Given the description of an element on the screen output the (x, y) to click on. 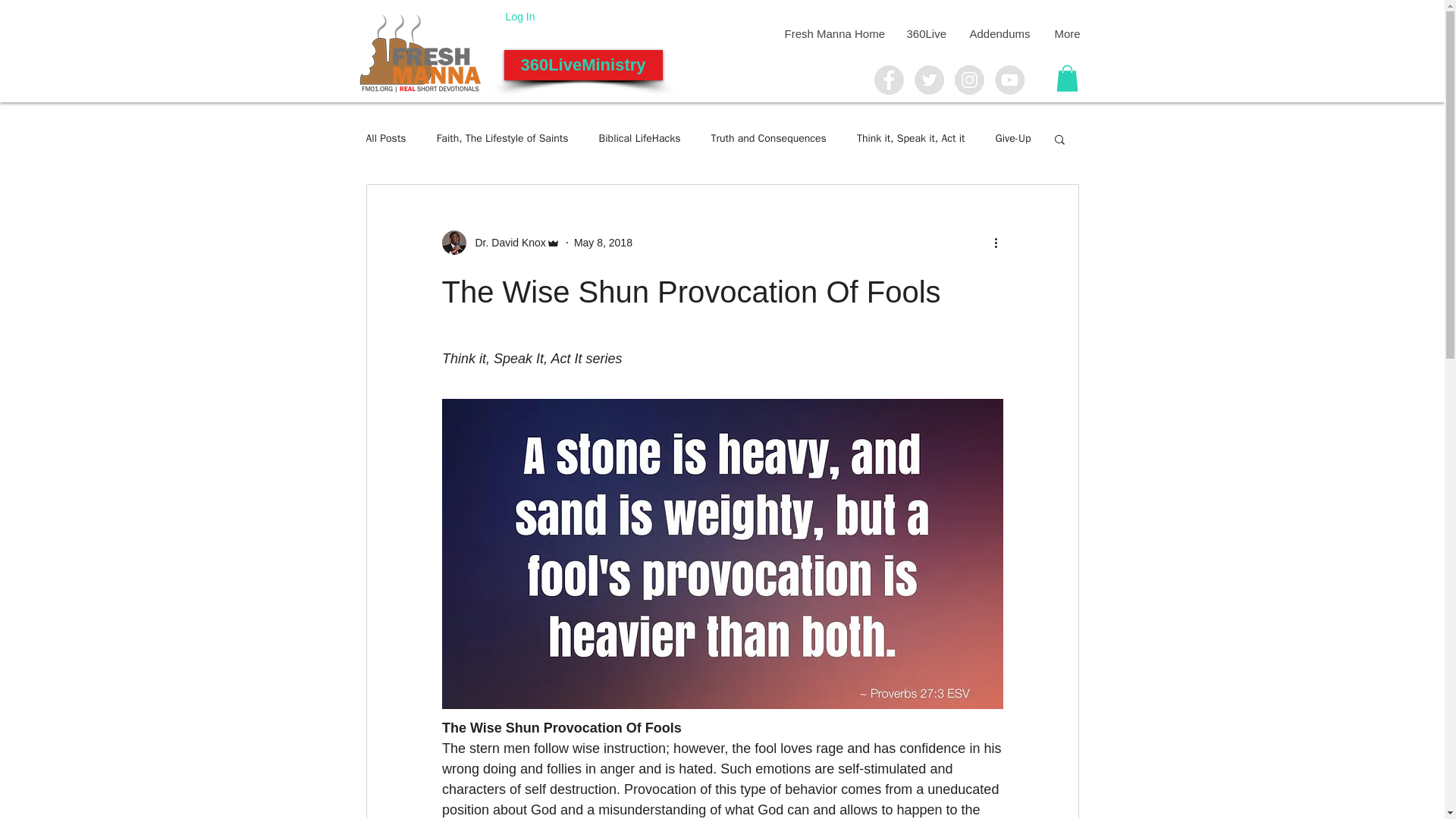
360LiveMinistry (582, 64)
Give-Up (1012, 138)
Faith, The Lifestyle of Saints (502, 138)
Dr. David Knox (504, 242)
Think it, Speak it, Act it (911, 138)
May 8, 2018 (602, 242)
Truth and Consequences (769, 138)
Log In (520, 15)
Biblical LifeHacks (639, 138)
Addendums (999, 33)
